Given the description of an element on the screen output the (x, y) to click on. 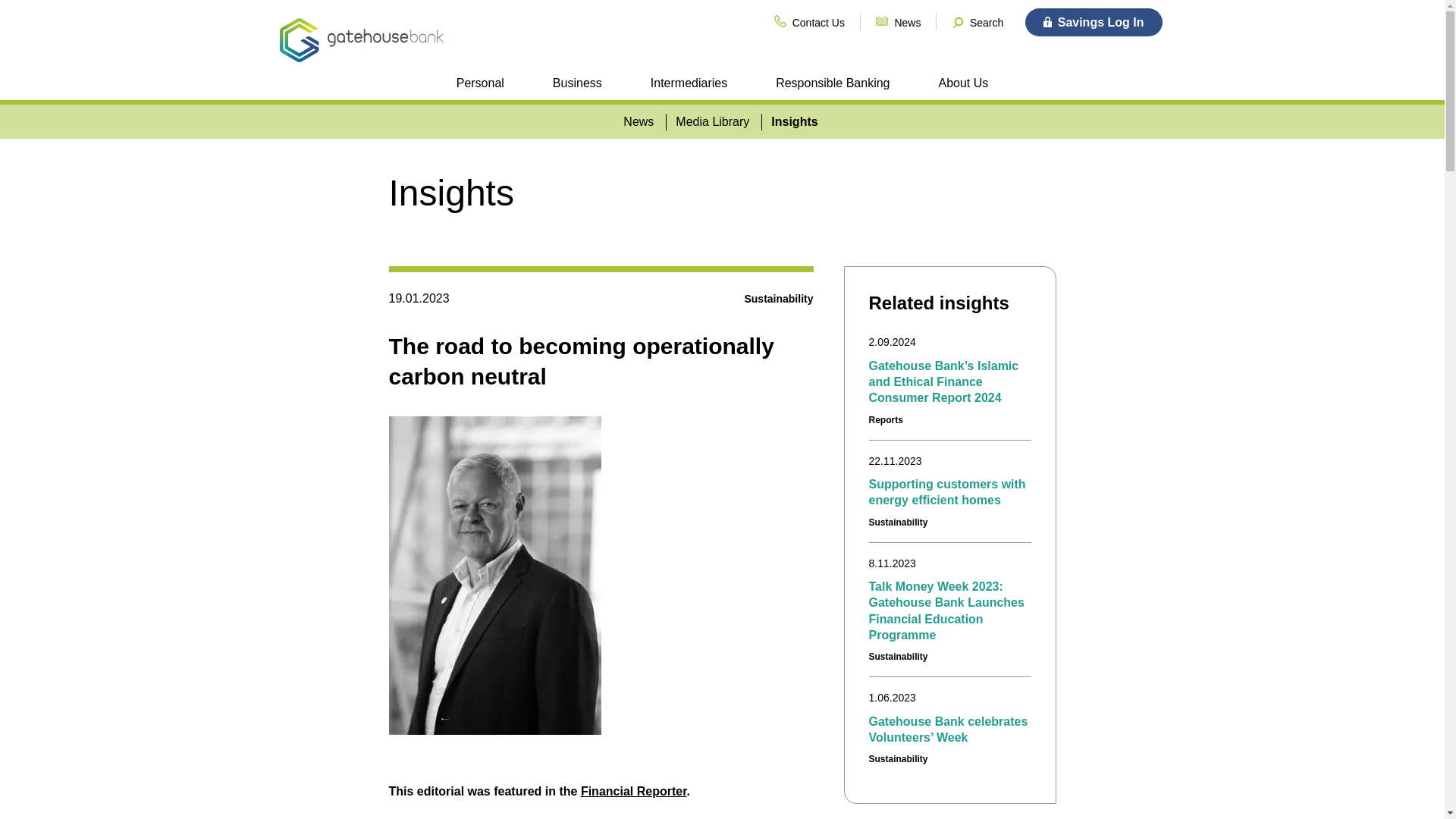
Personal (480, 83)
Contact Us (810, 21)
Business (577, 83)
About Us (962, 83)
Savings Log In (1093, 22)
Responsible Banking (832, 83)
Search (978, 22)
News (899, 21)
Intermediaries (688, 83)
